Given the description of an element on the screen output the (x, y) to click on. 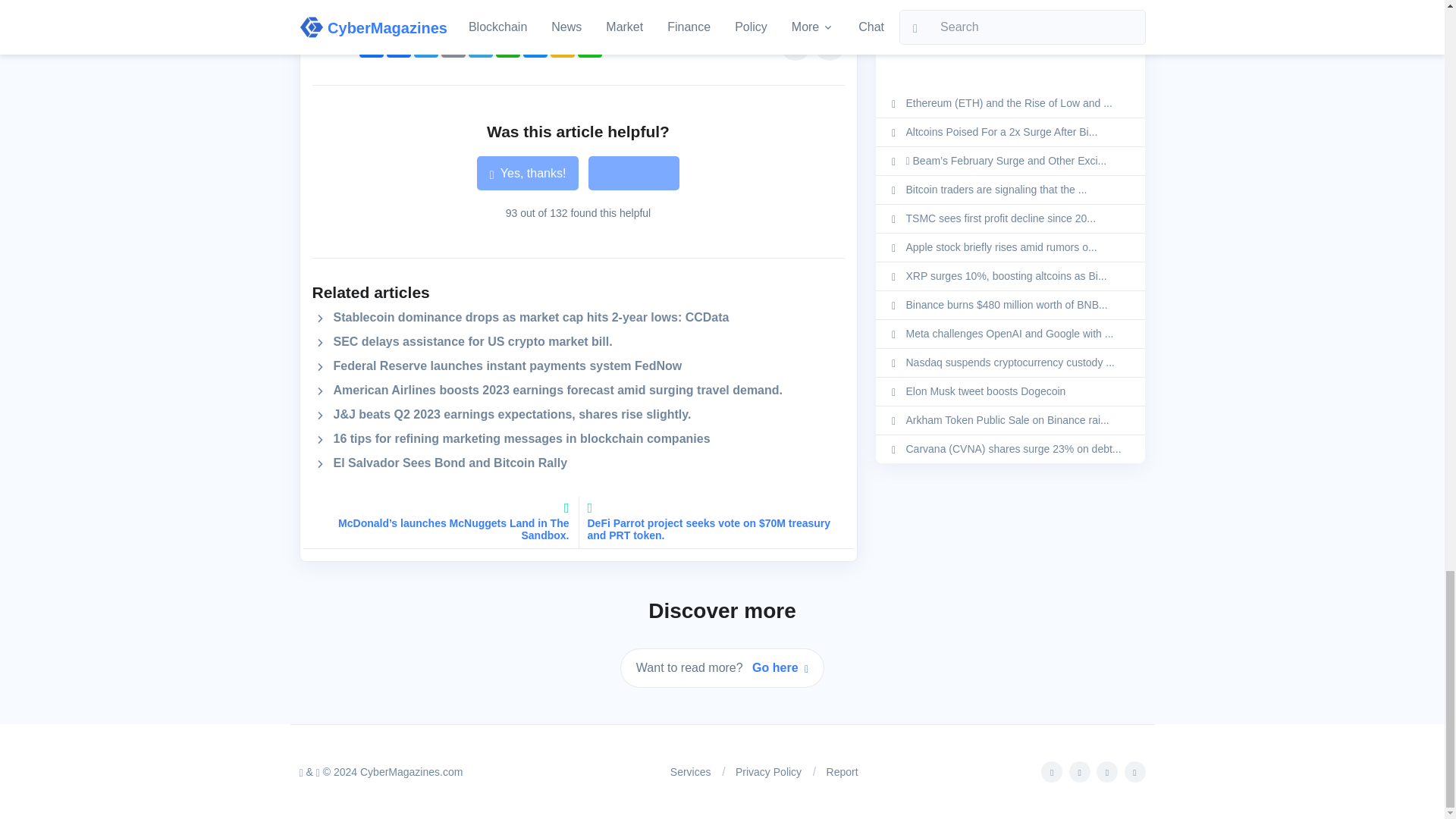
WhatsApp (508, 45)
Not, really (633, 173)
Line (590, 45)
Bookmark story (795, 45)
Yes, thanks! (528, 173)
Facebook (398, 45)
Report story (828, 45)
Messenger (534, 45)
Kakao (562, 45)
